Given the description of an element on the screen output the (x, y) to click on. 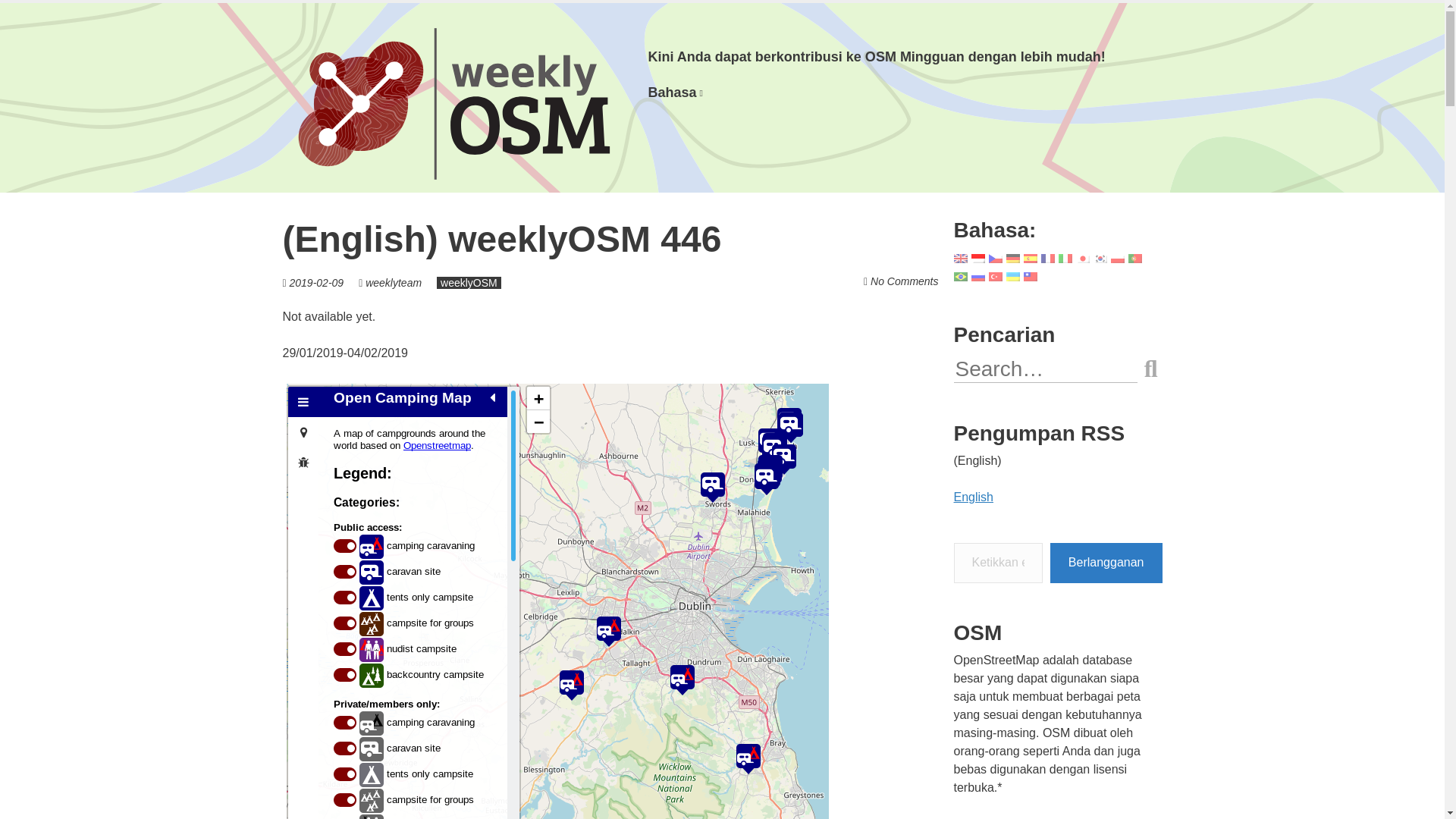
weeklyOSM (468, 282)
2019-02-09 (316, 282)
No Comments (903, 281)
Bahasa (675, 92)
Bahasa Indonesia (675, 92)
weeklyteam (393, 282)
